Given the description of an element on the screen output the (x, y) to click on. 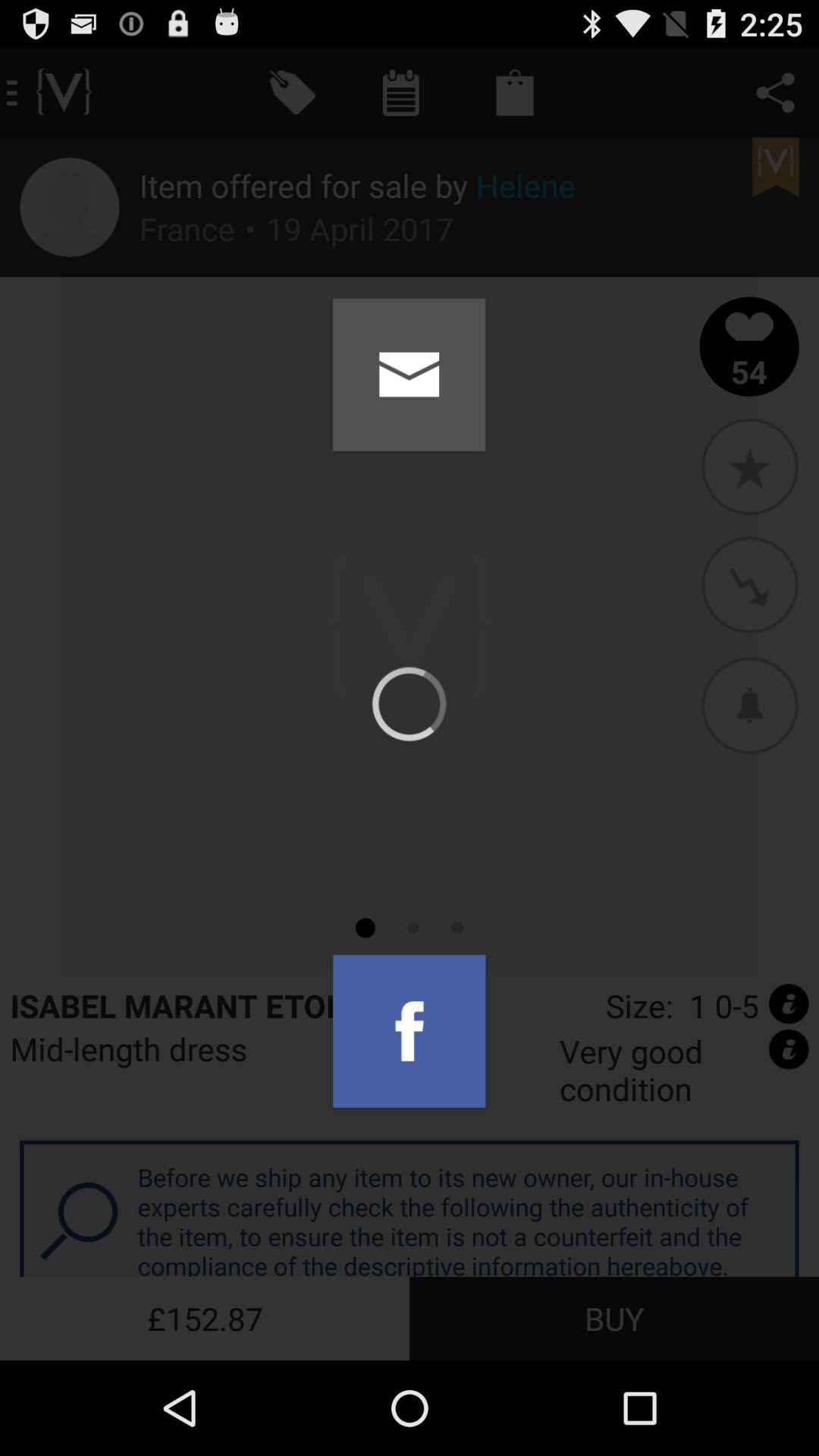
choose icon below the before we ship app (614, 1318)
